Given the description of an element on the screen output the (x, y) to click on. 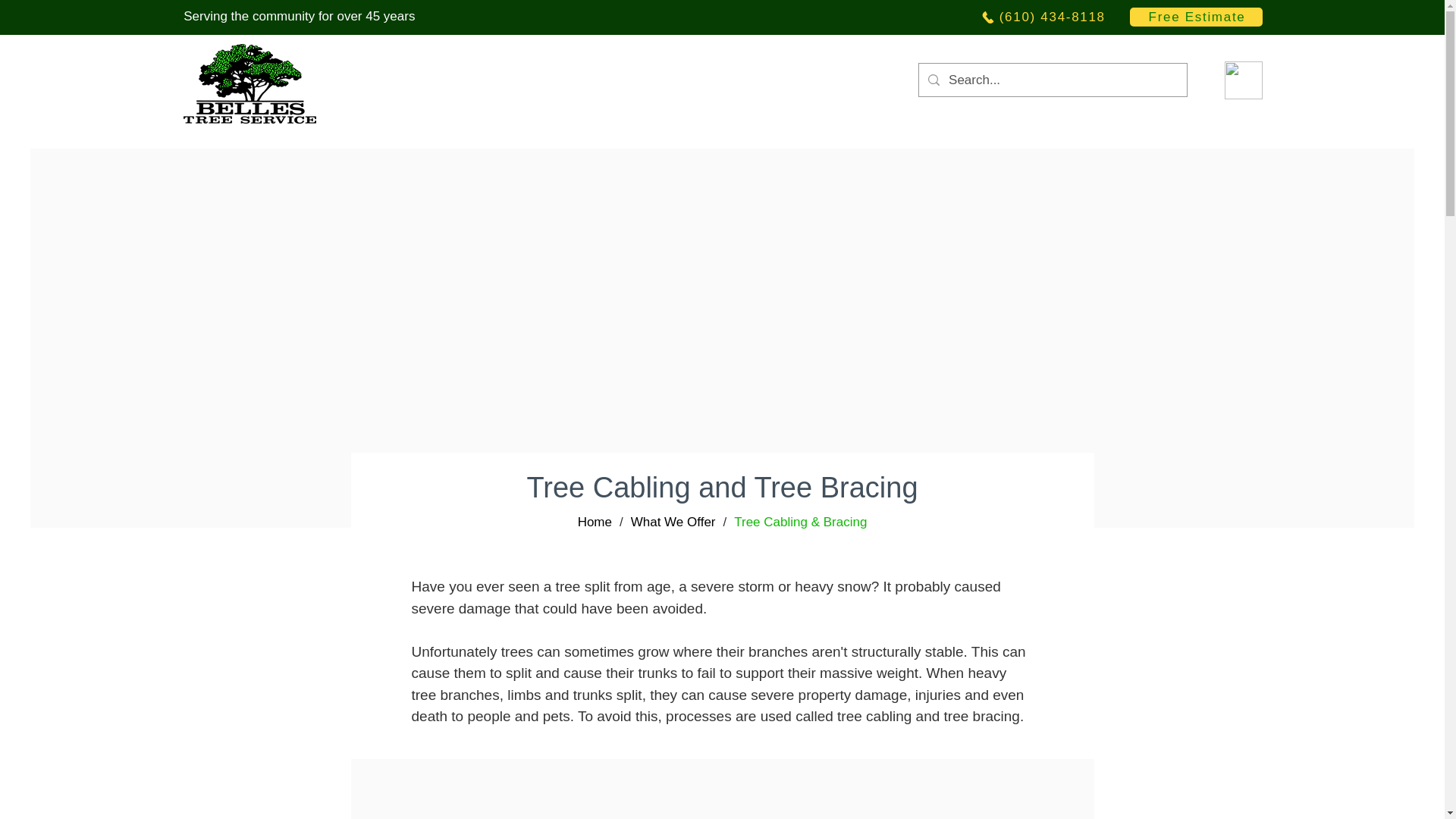
What We Offer (673, 521)
Free Estimate (1195, 16)
Home (595, 521)
Return to Home (249, 83)
